Given the description of an element on the screen output the (x, y) to click on. 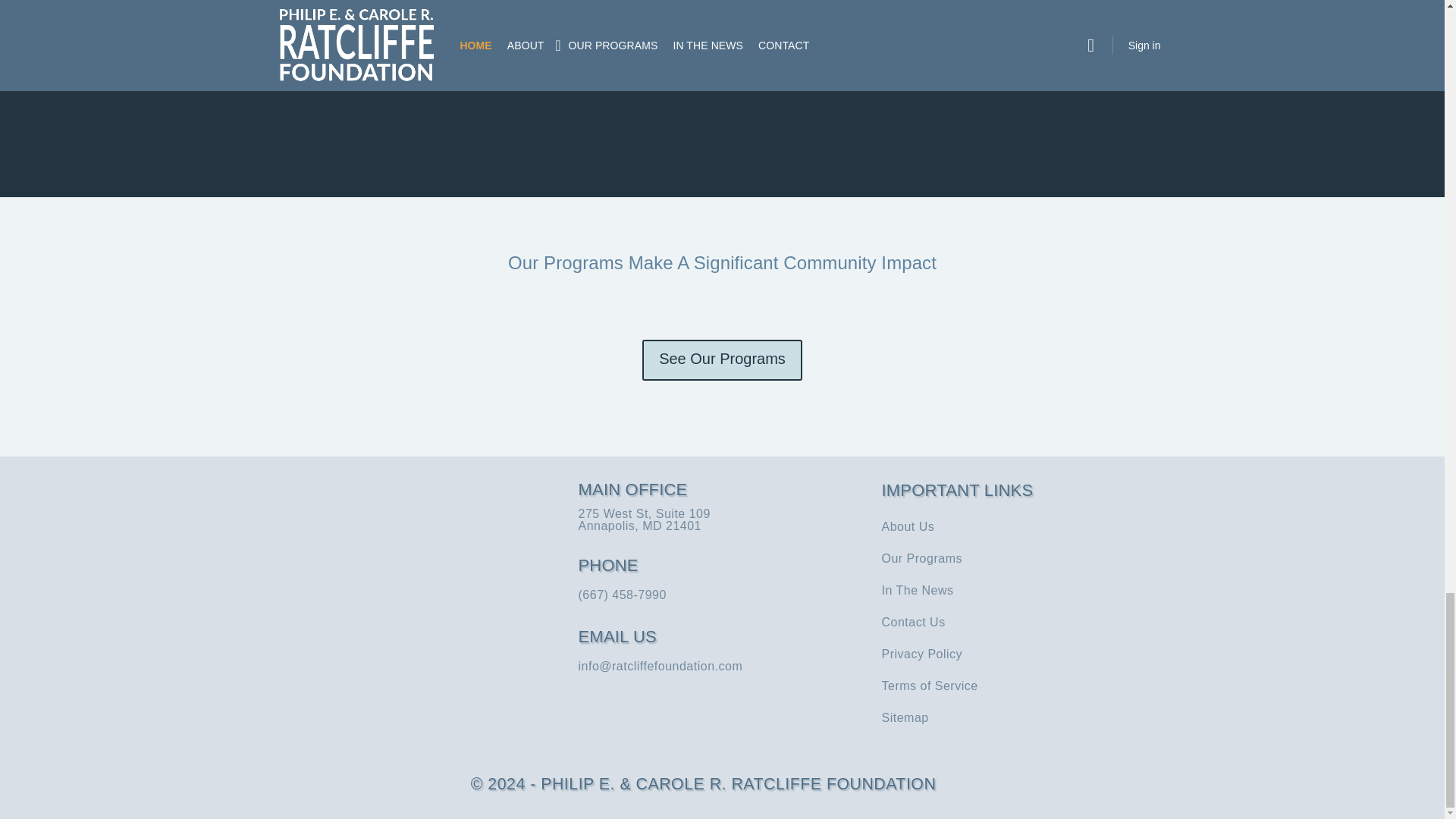
About Us (1024, 526)
Our Programs (1024, 558)
See Our Programs (722, 359)
In The News (1024, 590)
